Given the description of an element on the screen output the (x, y) to click on. 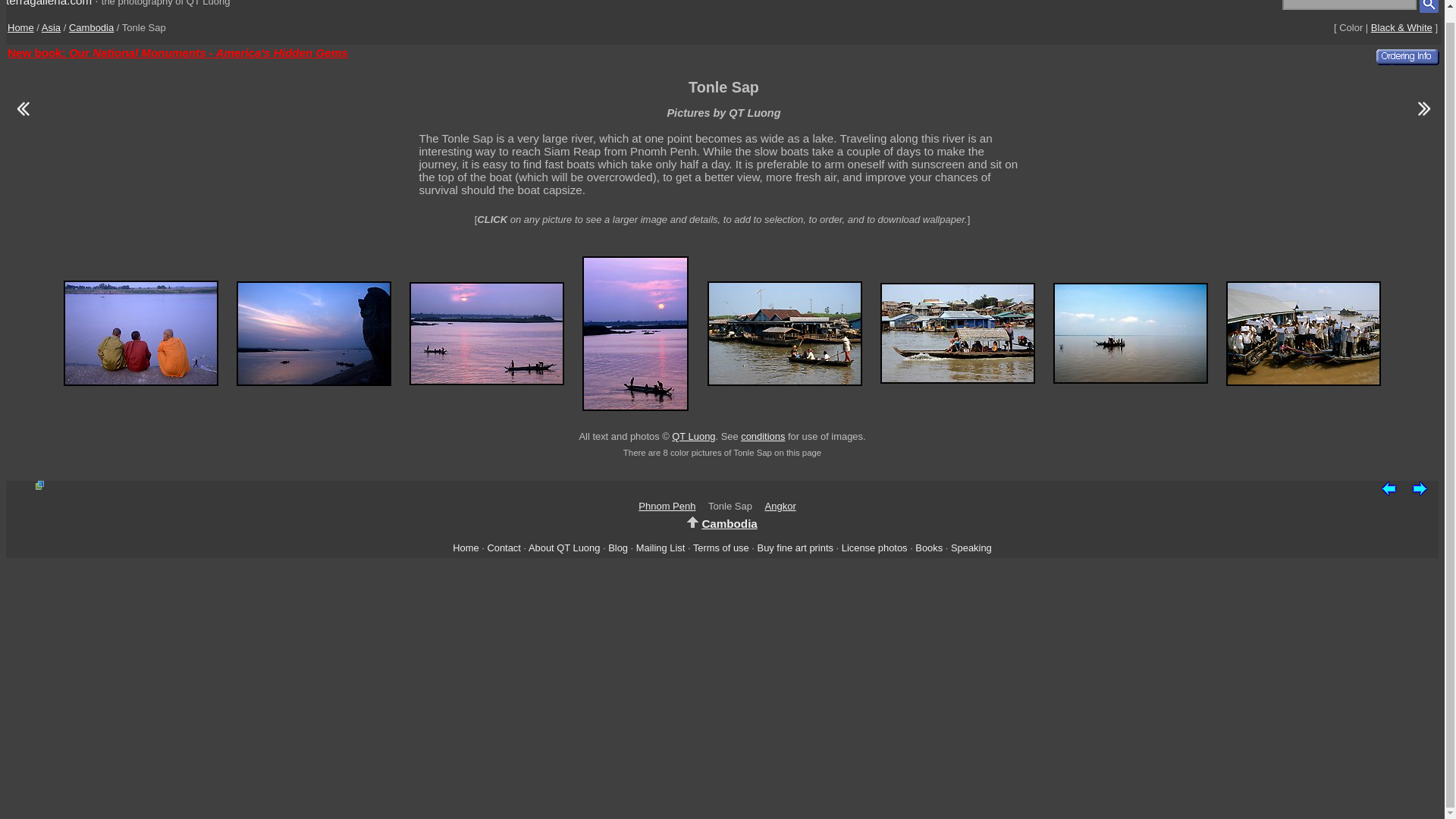
Previous set of pictures: Phnom Penh (1388, 486)
License photos (874, 547)
Books (928, 547)
Angkor (780, 505)
Speaking (970, 547)
QT Luong (692, 436)
Blog (617, 547)
About QT Luong (563, 547)
Mailing List (660, 547)
Buy fine art prints (794, 547)
Next set of pictures: Angkor (1420, 486)
Home (20, 27)
Terms of use (721, 547)
Asia (51, 27)
Cambodia (90, 27)
